Given the description of an element on the screen output the (x, y) to click on. 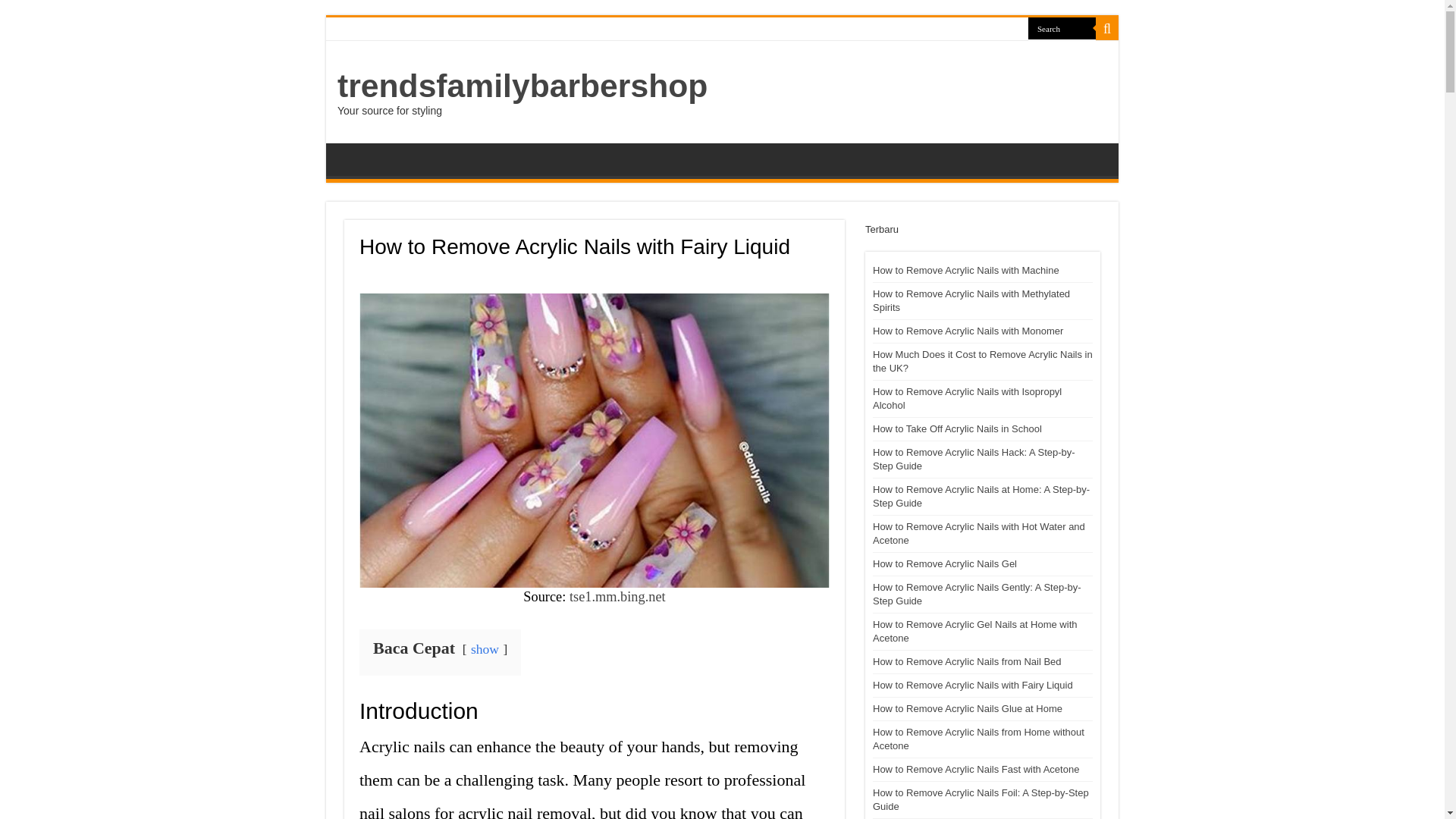
trendsfamilybarbershop (522, 85)
show (484, 648)
Search (1061, 28)
Search (1061, 28)
tse1.mm.bing.net (617, 595)
Search (1107, 28)
Search (1061, 28)
